Given the description of an element on the screen output the (x, y) to click on. 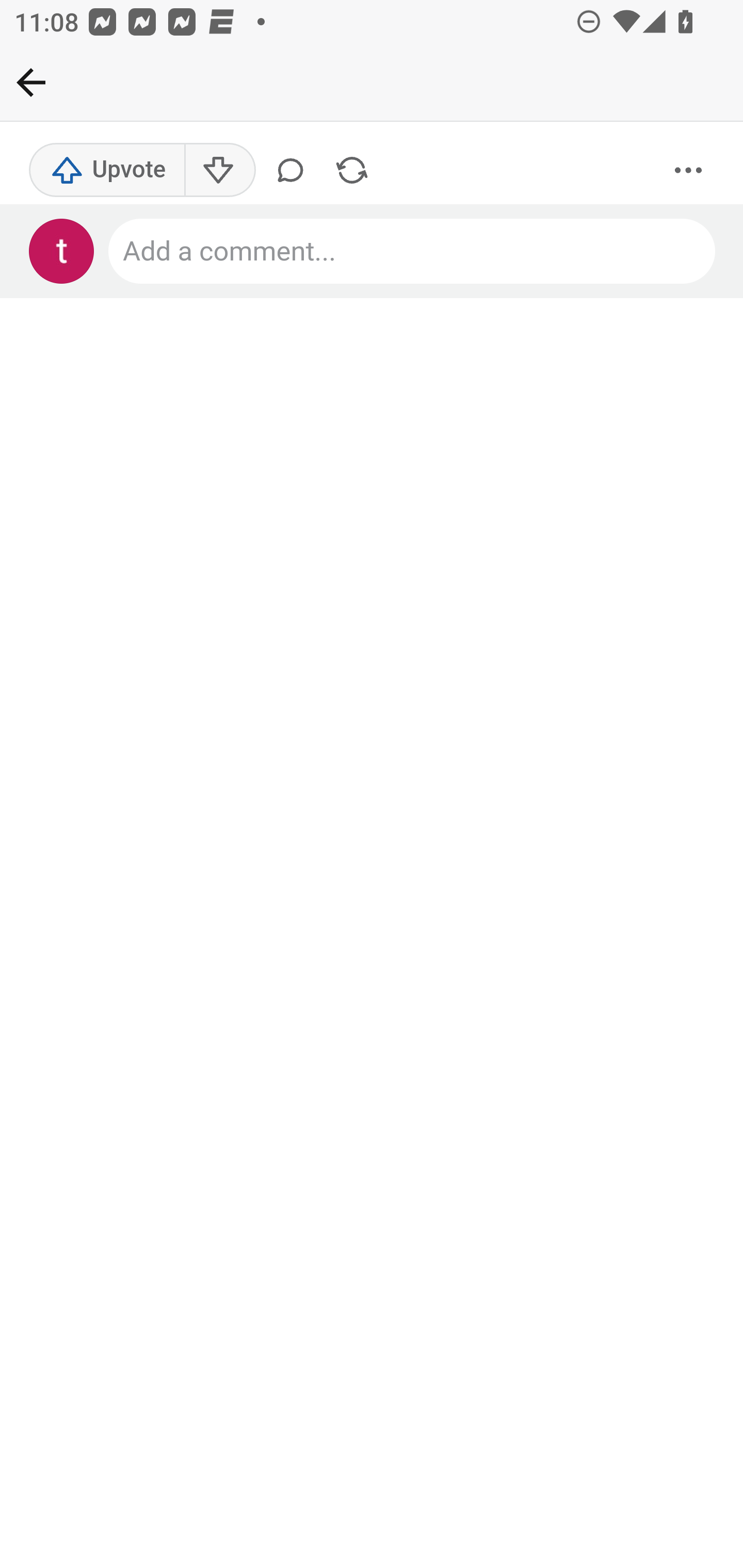
Back (30, 82)
Upvote (106, 170)
Downvote (219, 170)
Comment (293, 170)
Share (351, 170)
More (688, 170)
Profile photo for Test Appium (61, 252)
Add a comment... (412, 252)
